Given the description of an element on the screen output the (x, y) to click on. 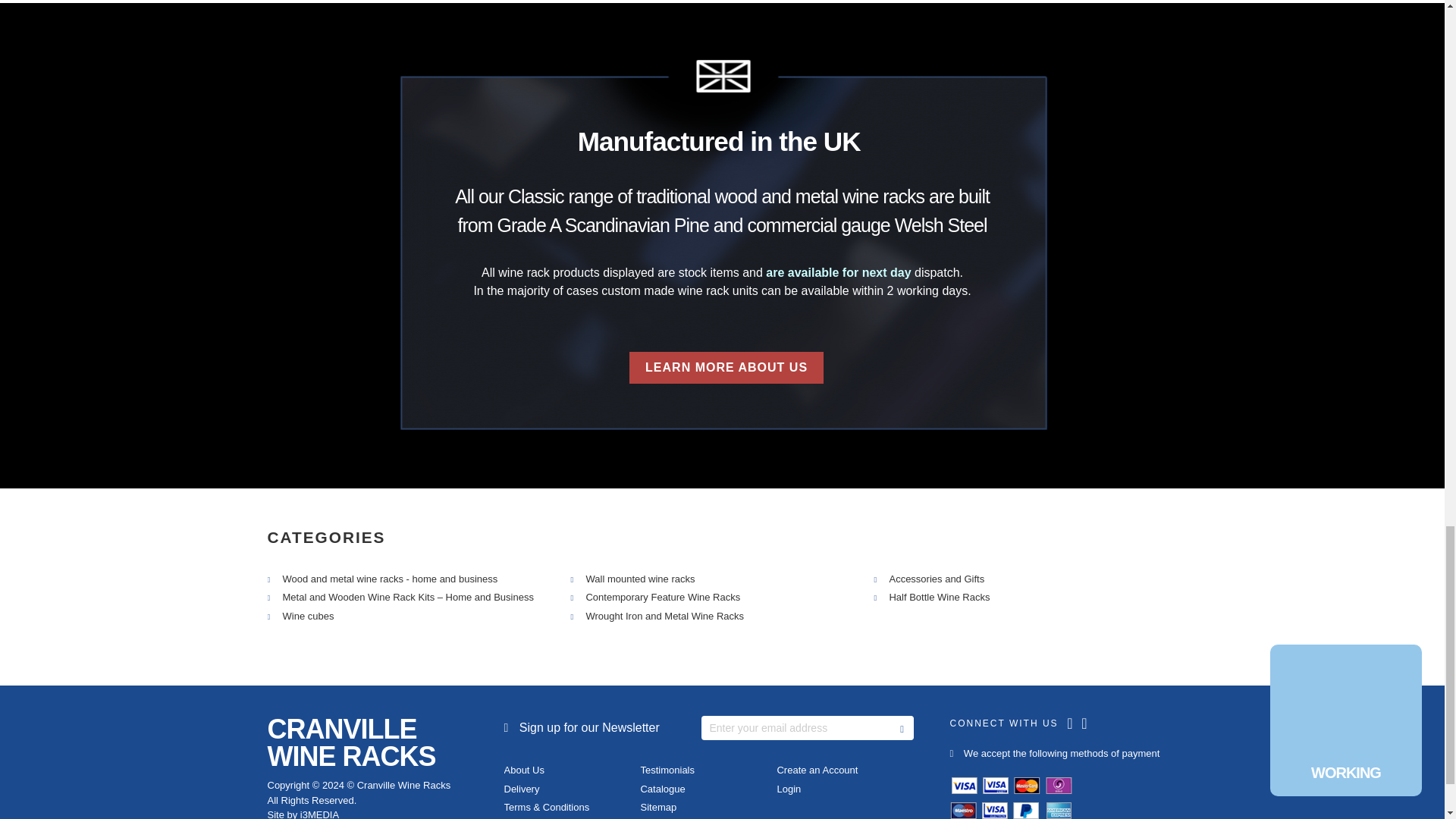
Site by i3MEDIA (302, 814)
Testimonials (667, 769)
About Us (523, 769)
Catalogue (662, 788)
Delivery  (520, 788)
Sitemap (658, 807)
